Given the description of an element on the screen output the (x, y) to click on. 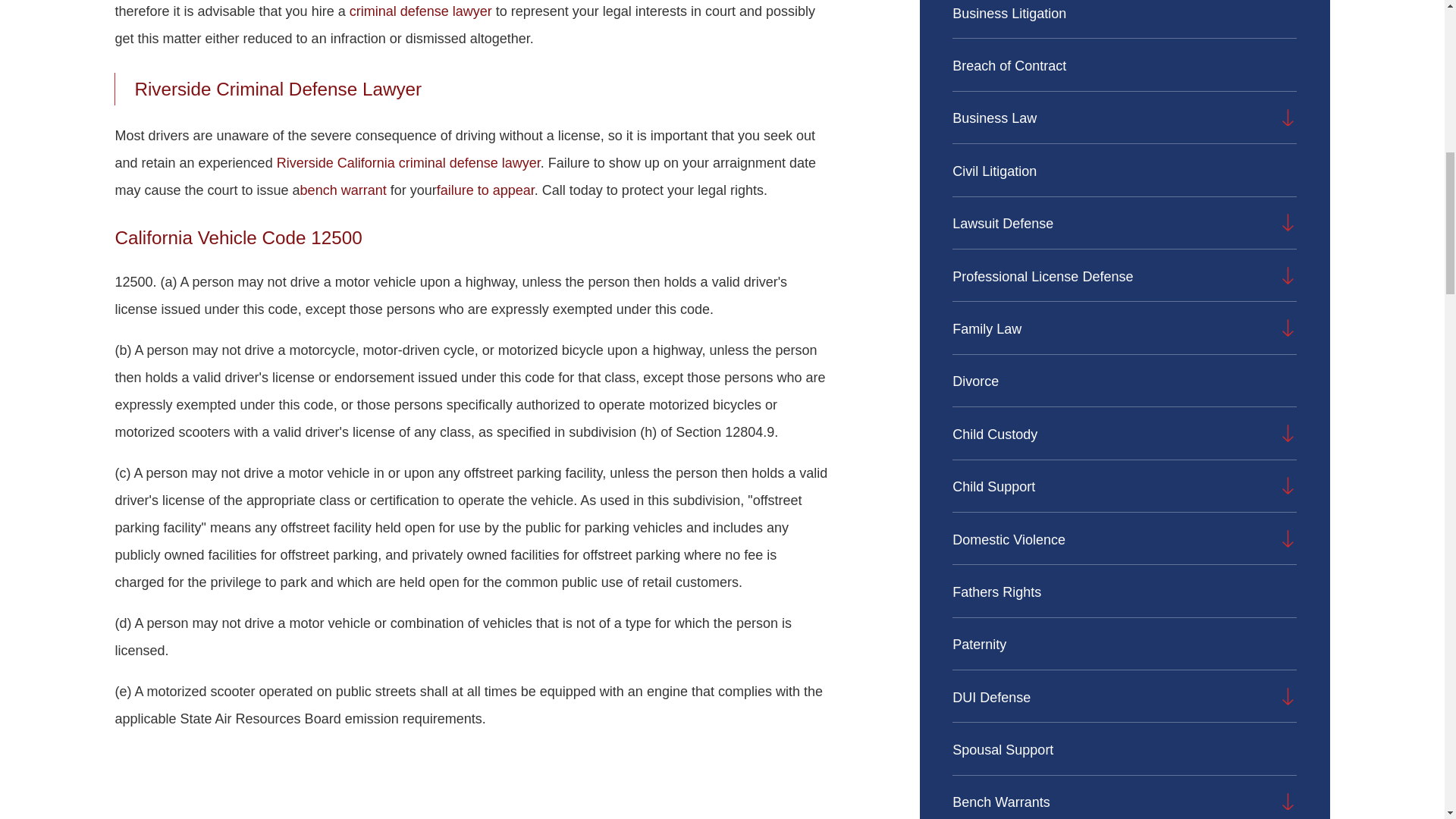
Open child menu of DUI Defense (1288, 696)
Open child menu of Domestic Violence (1288, 538)
Open child menu of Child Support (1288, 485)
Open child menu of Professional License Defense (1288, 275)
Open child menu of Business Law (1288, 117)
Open child menu of Lawsuit Defense (1288, 221)
Open child menu of Child Custody (1288, 433)
Open child menu of Family Law (1288, 327)
Open child menu of Bench Warrants (1288, 801)
